Given the description of an element on the screen output the (x, y) to click on. 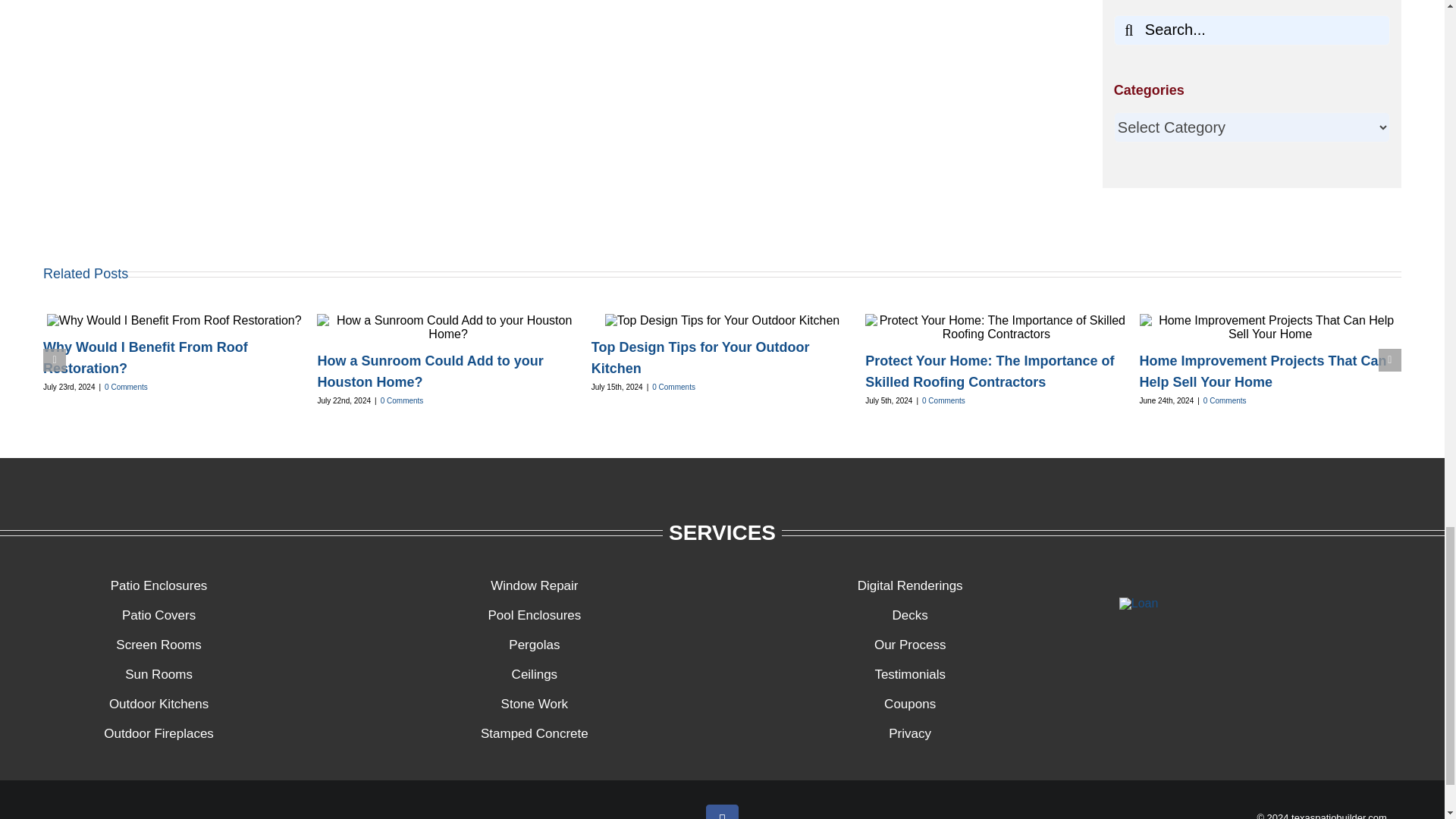
Why Would I Benefit From Roof Restoration? (145, 357)
Facebook (722, 811)
Top Design Tips for Your Outdoor Kitchen (700, 357)
How a Sunroom Could Add to your Houston Home? (430, 370)
Why Would I Benefit From Roof Restoration? (145, 357)
Home Improvement Projects That Can Help Sell Your Home (1263, 370)
